Given the description of an element on the screen output the (x, y) to click on. 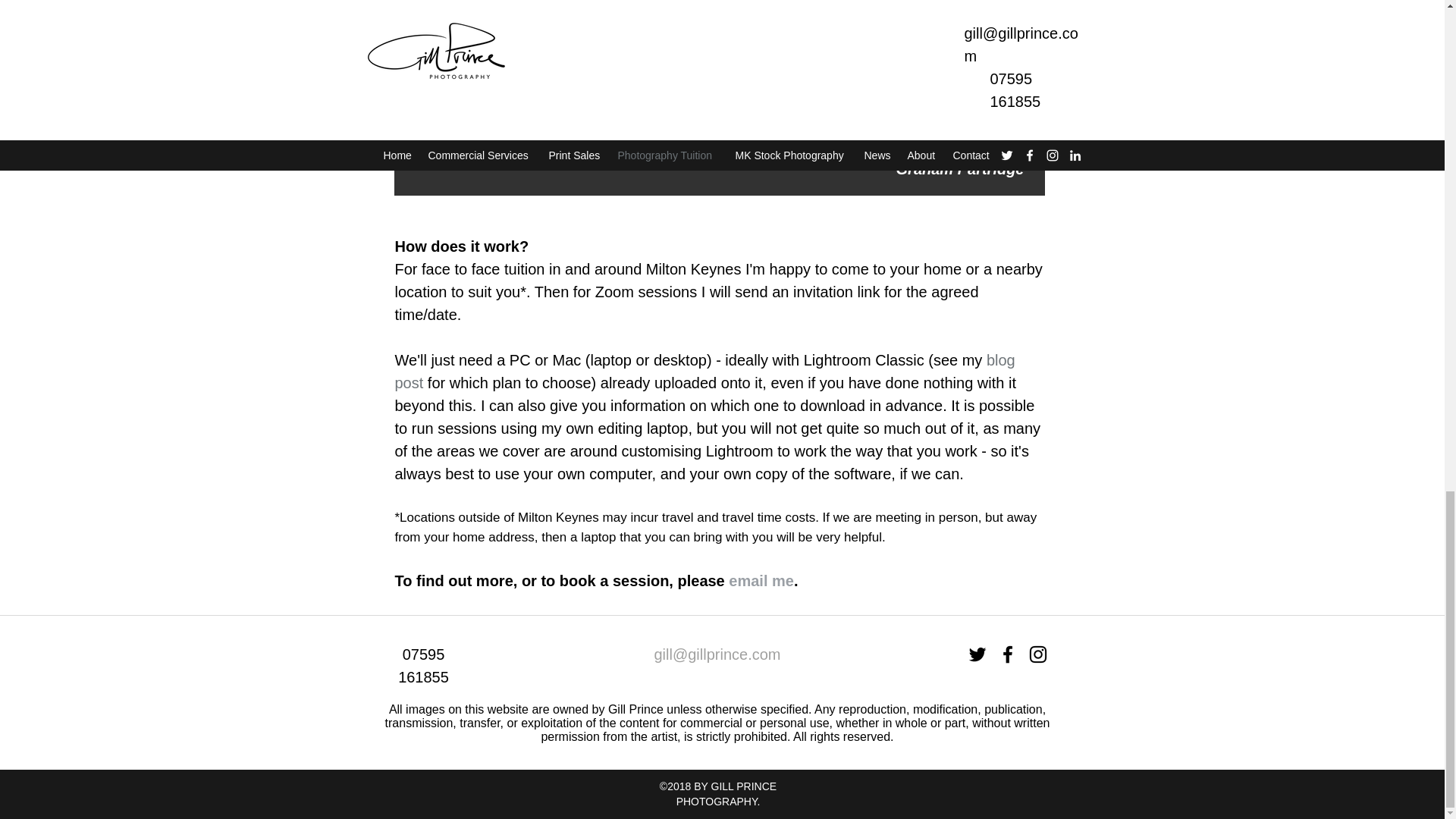
blog post (704, 371)
email me (761, 580)
